Given the description of an element on the screen output the (x, y) to click on. 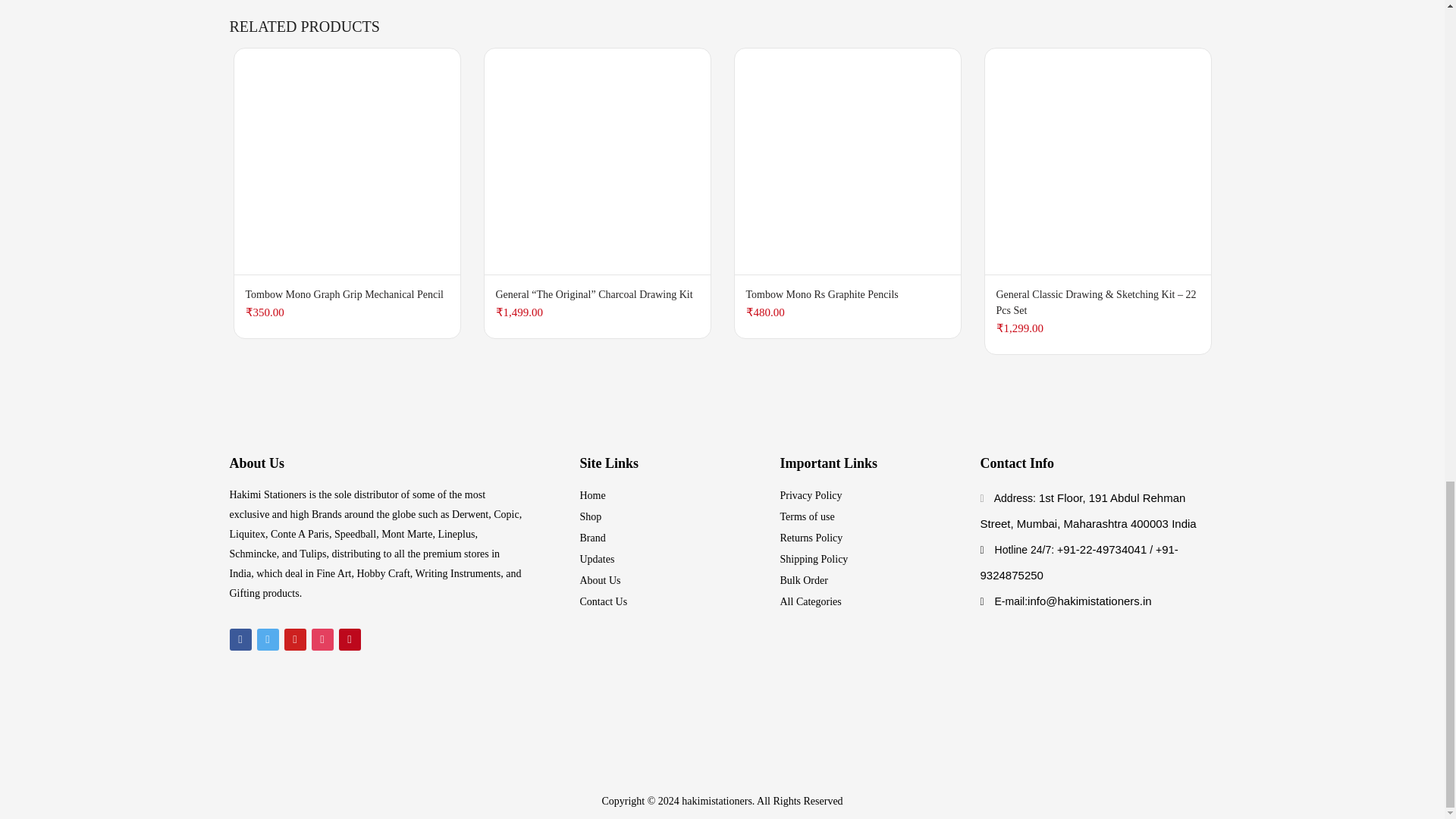
Tombow Mono Graph Grip Mechanical Pencil (346, 160)
